Given the description of an element on the screen output the (x, y) to click on. 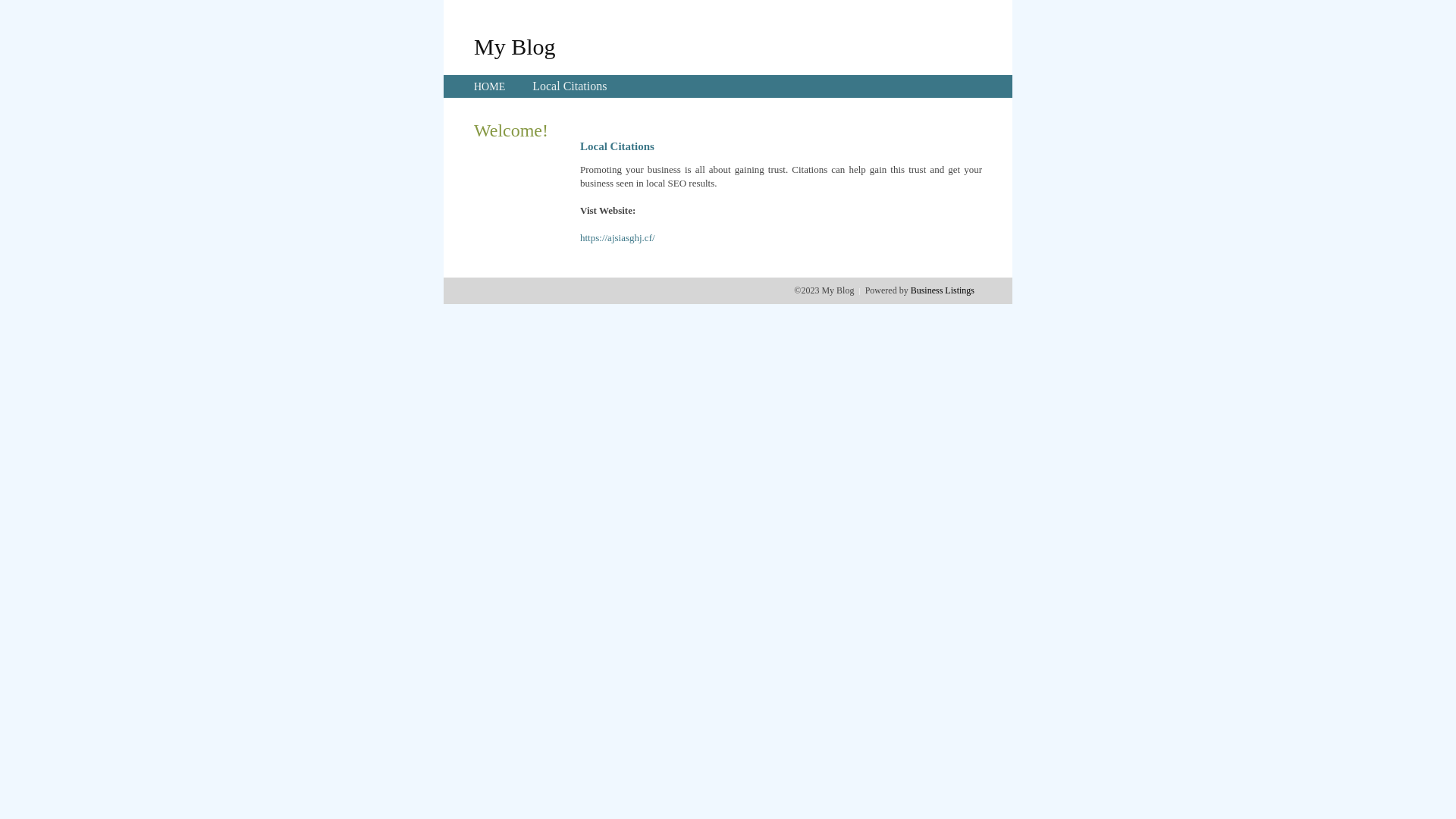
https://ajsiasghj.cf/ Element type: text (617, 237)
HOME Element type: text (489, 86)
Local Citations Element type: text (569, 85)
Business Listings Element type: text (942, 290)
My Blog Element type: text (514, 46)
